Given the description of an element on the screen output the (x, y) to click on. 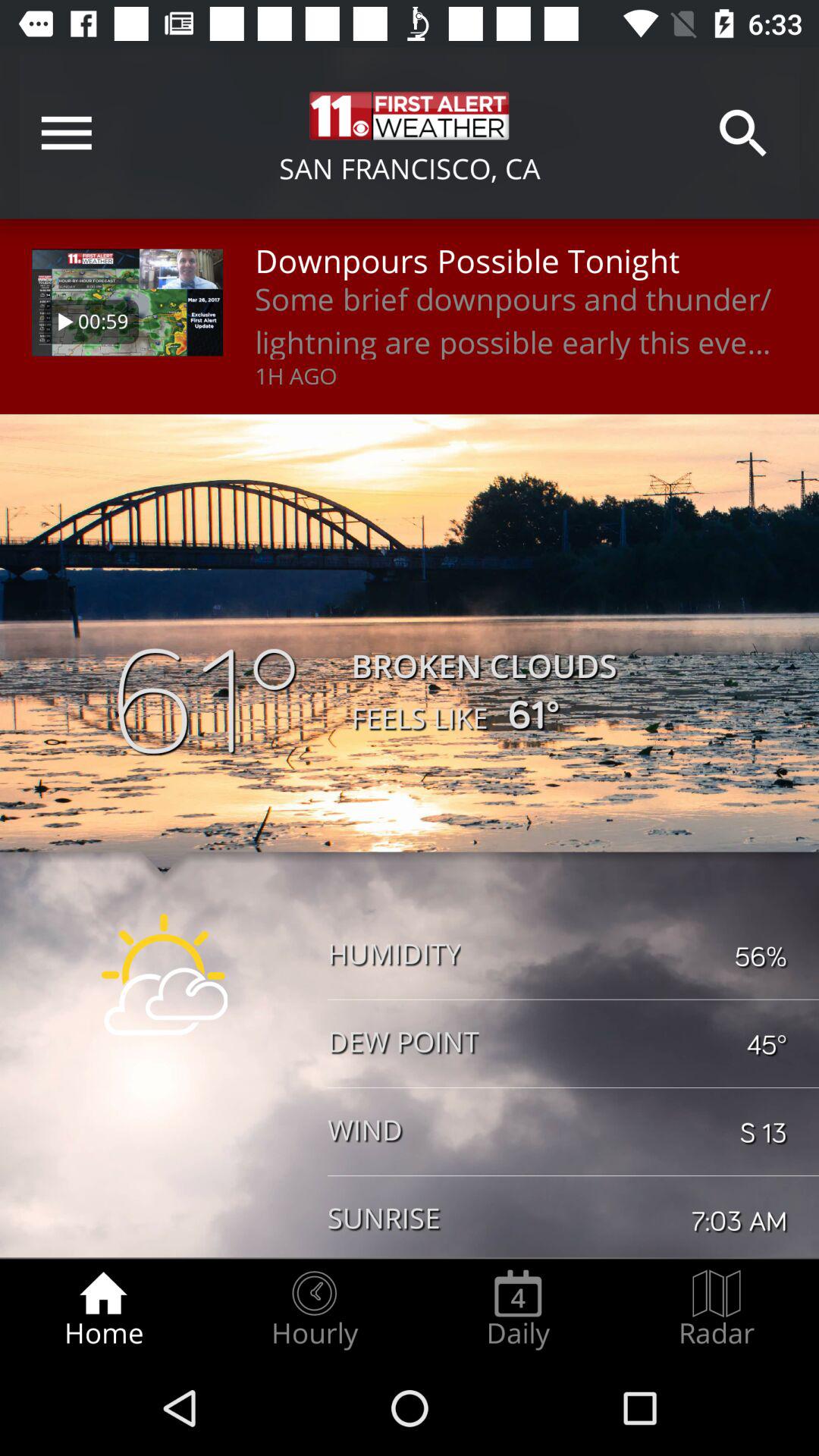
launch the radar radio button (716, 1309)
